Given the description of an element on the screen output the (x, y) to click on. 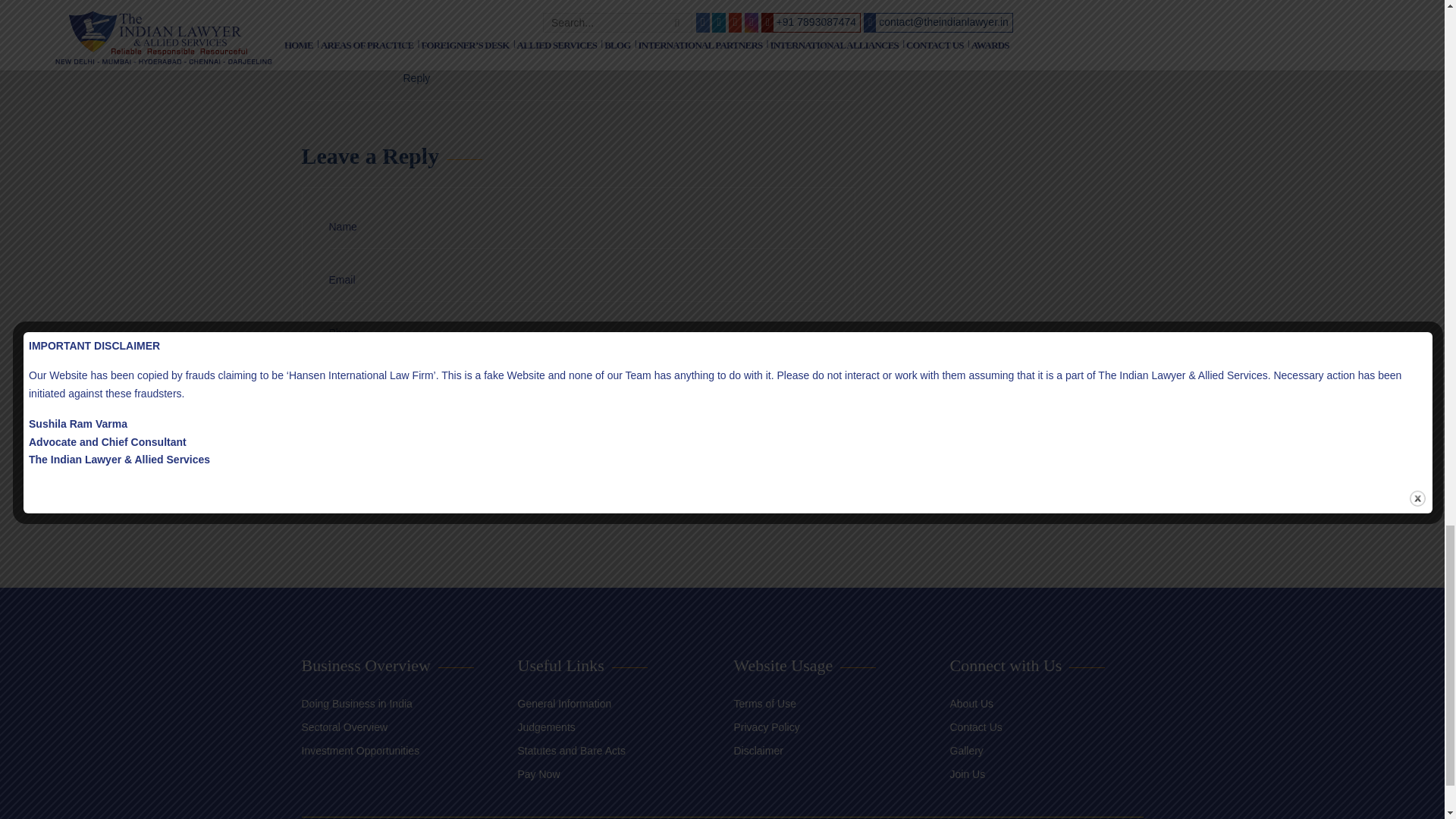
Post Comment (401, 472)
Reply (416, 78)
Post Comment (401, 472)
